Given the description of an element on the screen output the (x, y) to click on. 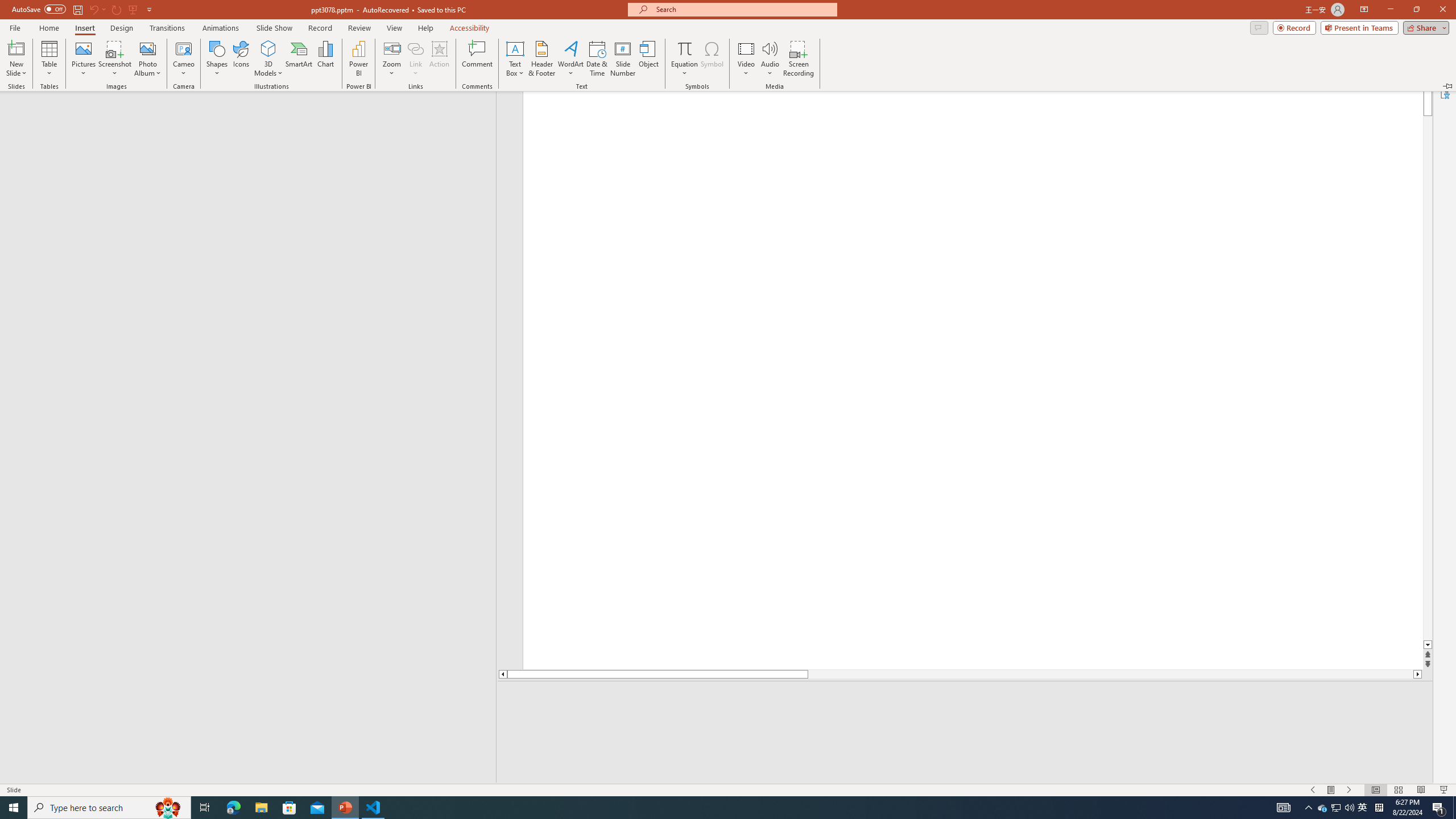
Notification Chevron (1308, 807)
PowerPoint - 1 running window (345, 807)
Running applications (700, 807)
Visual Studio Code - 1 running window (373, 807)
Microsoft Store (289, 807)
User Promoted Notification Area (1336, 807)
Microsoft Edge (233, 807)
